Given the description of an element on the screen output the (x, y) to click on. 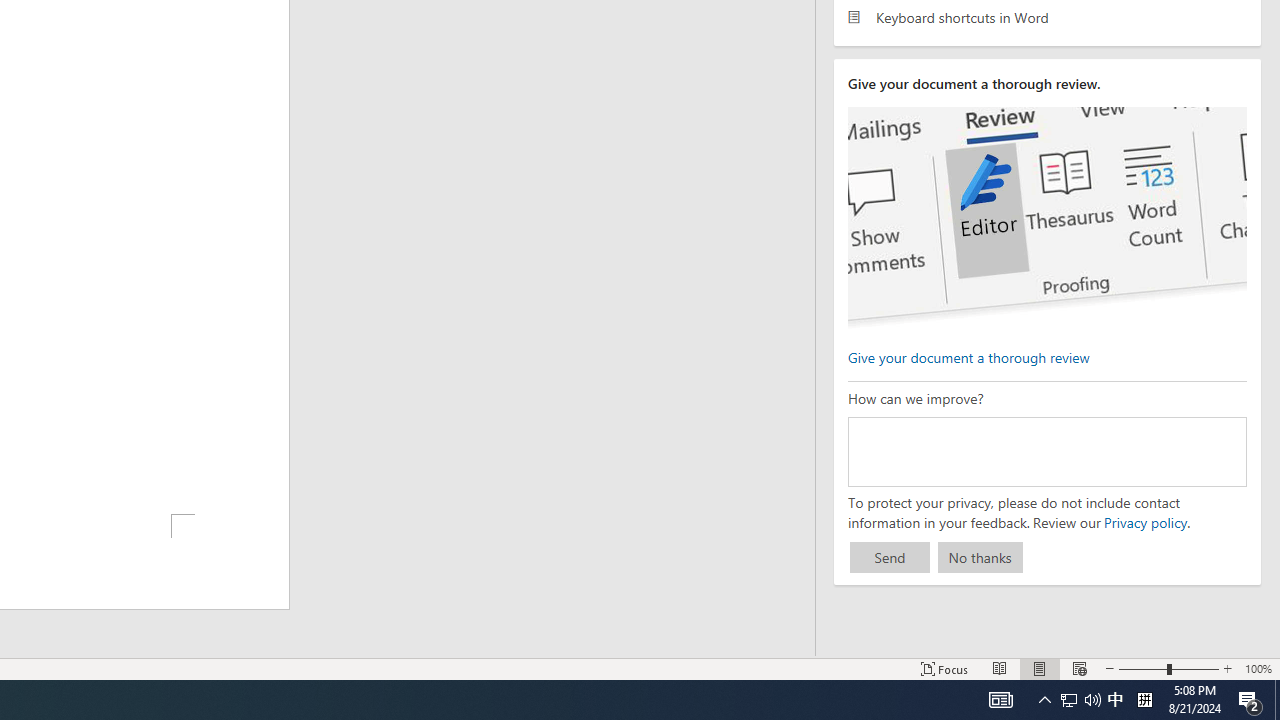
Privacy policy (1144, 522)
Send (889, 557)
No thanks (980, 557)
editor ui screenshot (1046, 218)
Keyboard shortcuts in Word (1047, 16)
Zoom 100% (1258, 668)
Zoom (1168, 668)
How can we improve? (1046, 451)
Give your document a thorough review (968, 356)
